Given the description of an element on the screen output the (x, y) to click on. 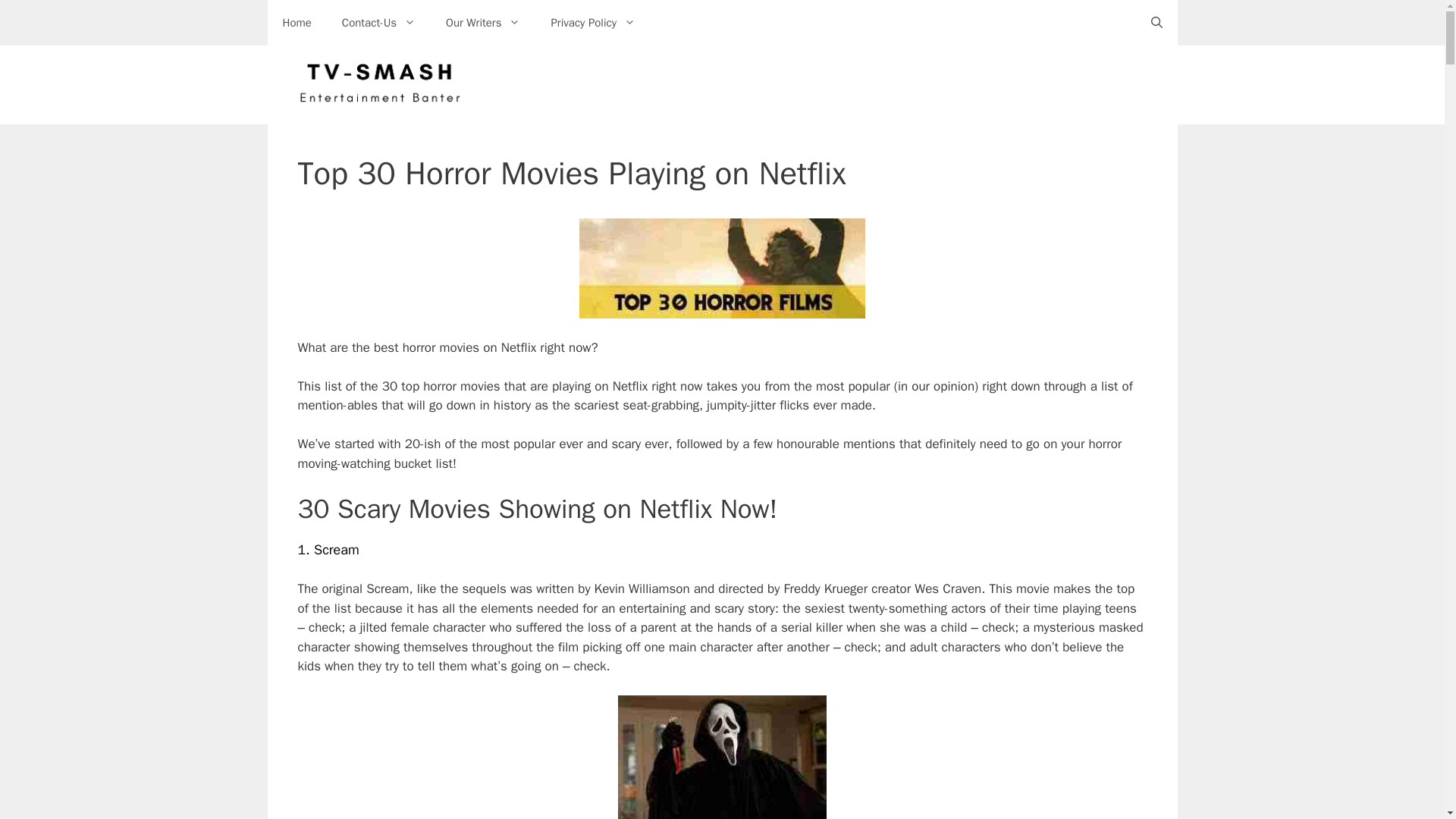
Home (296, 22)
Our Writers (482, 22)
Privacy Policy (592, 22)
Contact-Us (378, 22)
